Given the description of an element on the screen output the (x, y) to click on. 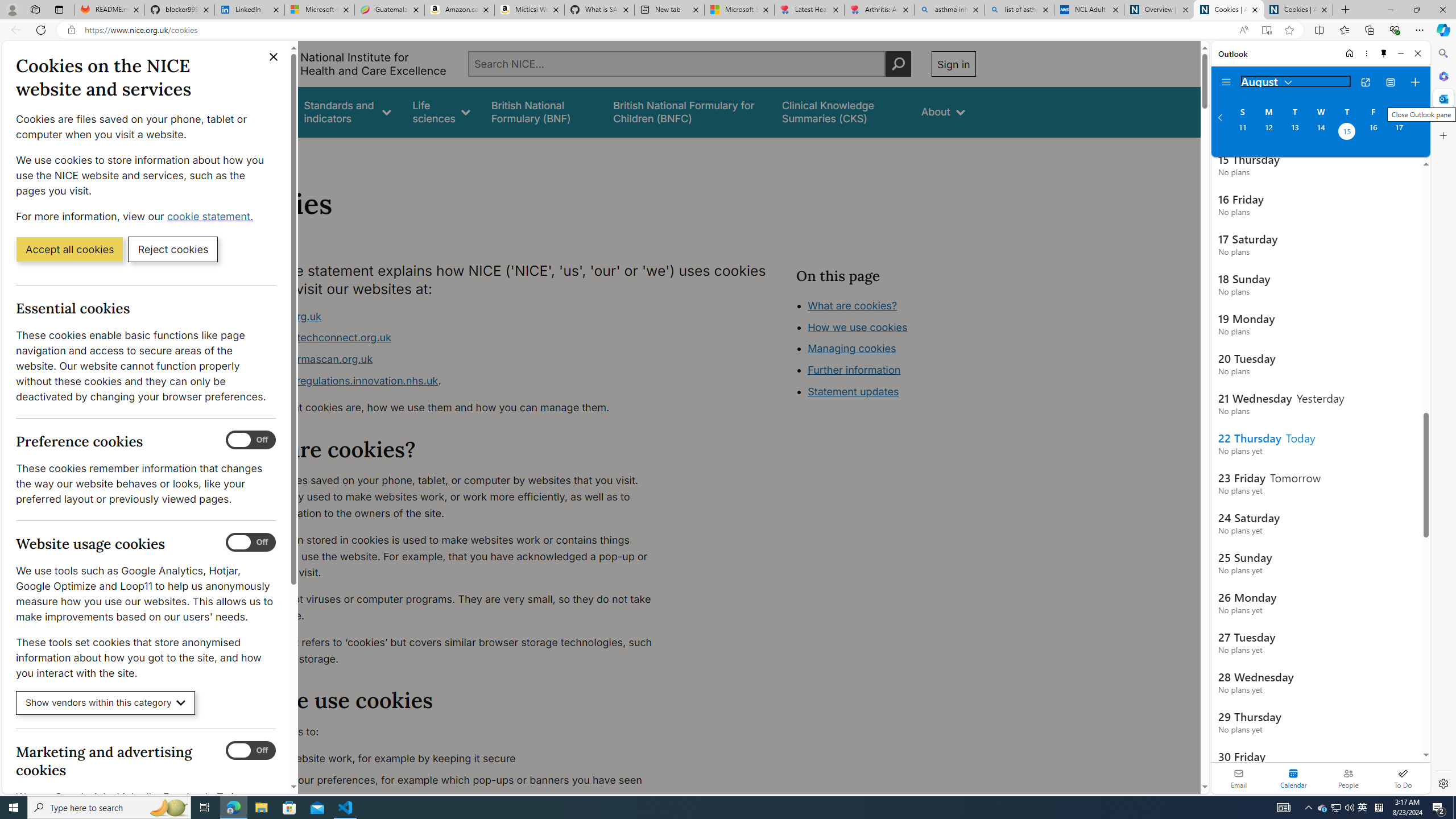
Class: in-page-nav__list (884, 349)
www.nice.org.uk (452, 316)
August (1267, 80)
People (1347, 777)
Email (1238, 777)
